Given the description of an element on the screen output the (x, y) to click on. 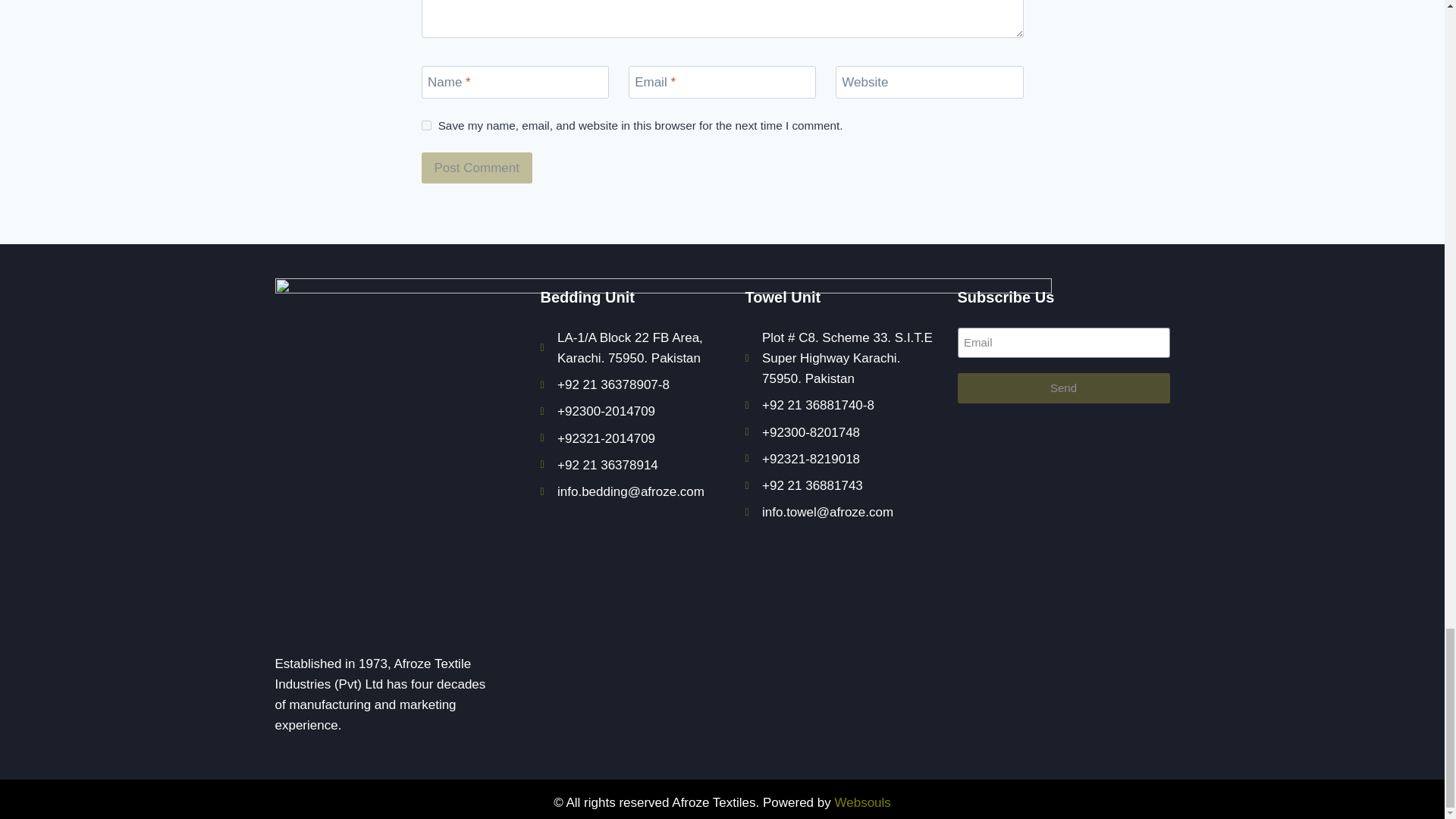
Post Comment (477, 167)
yes (426, 125)
